Given the description of an element on the screen output the (x, y) to click on. 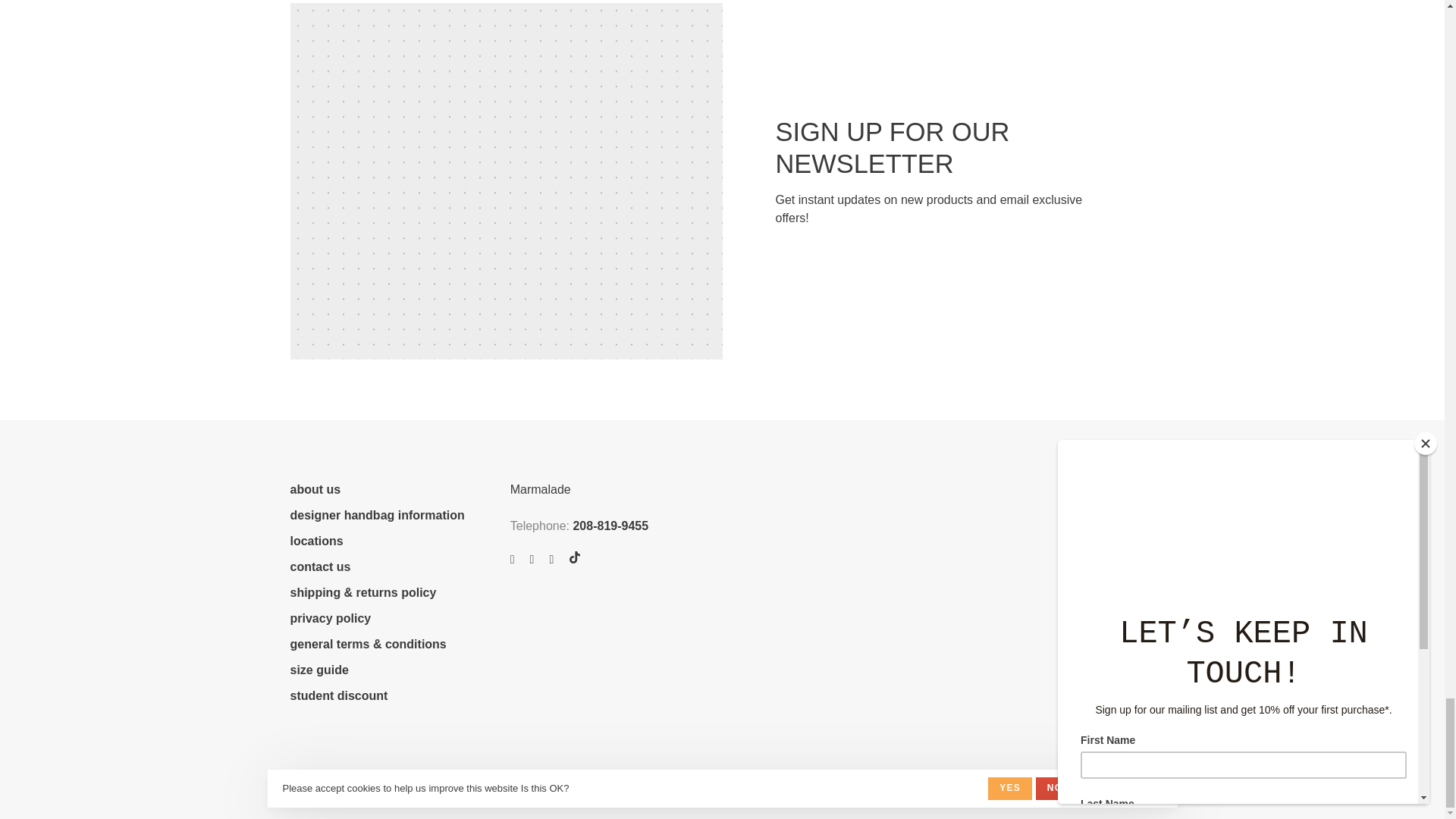
TikTok (574, 557)
